Given the description of an element on the screen output the (x, y) to click on. 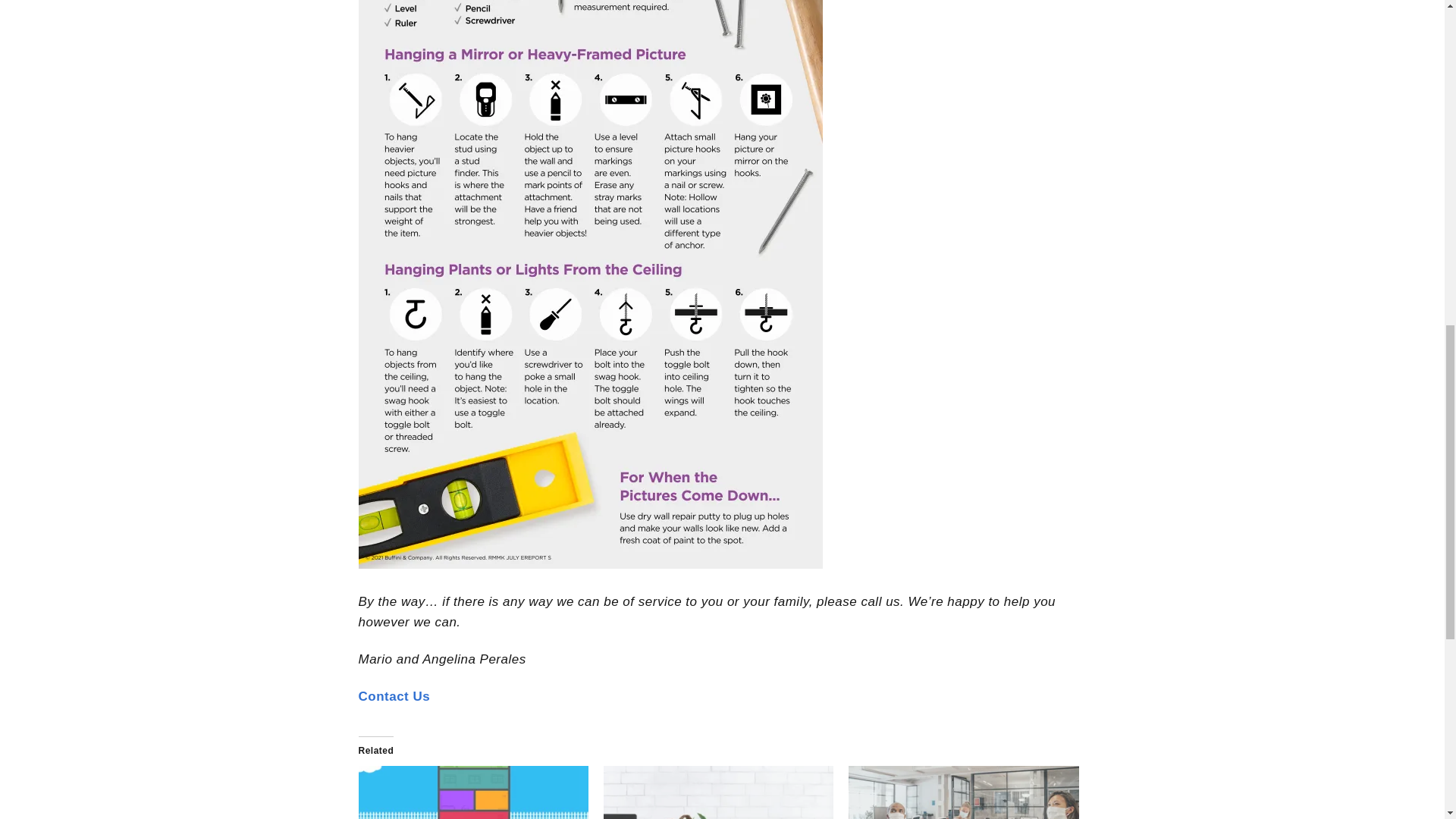
2020 Homeowner Wish List (473, 792)
The Latest Unemployment Report: Slow and Steady Improvement (963, 792)
Contact Us (393, 696)
Create The Home Office Of Your Dreams (718, 792)
